Given the description of an element on the screen output the (x, y) to click on. 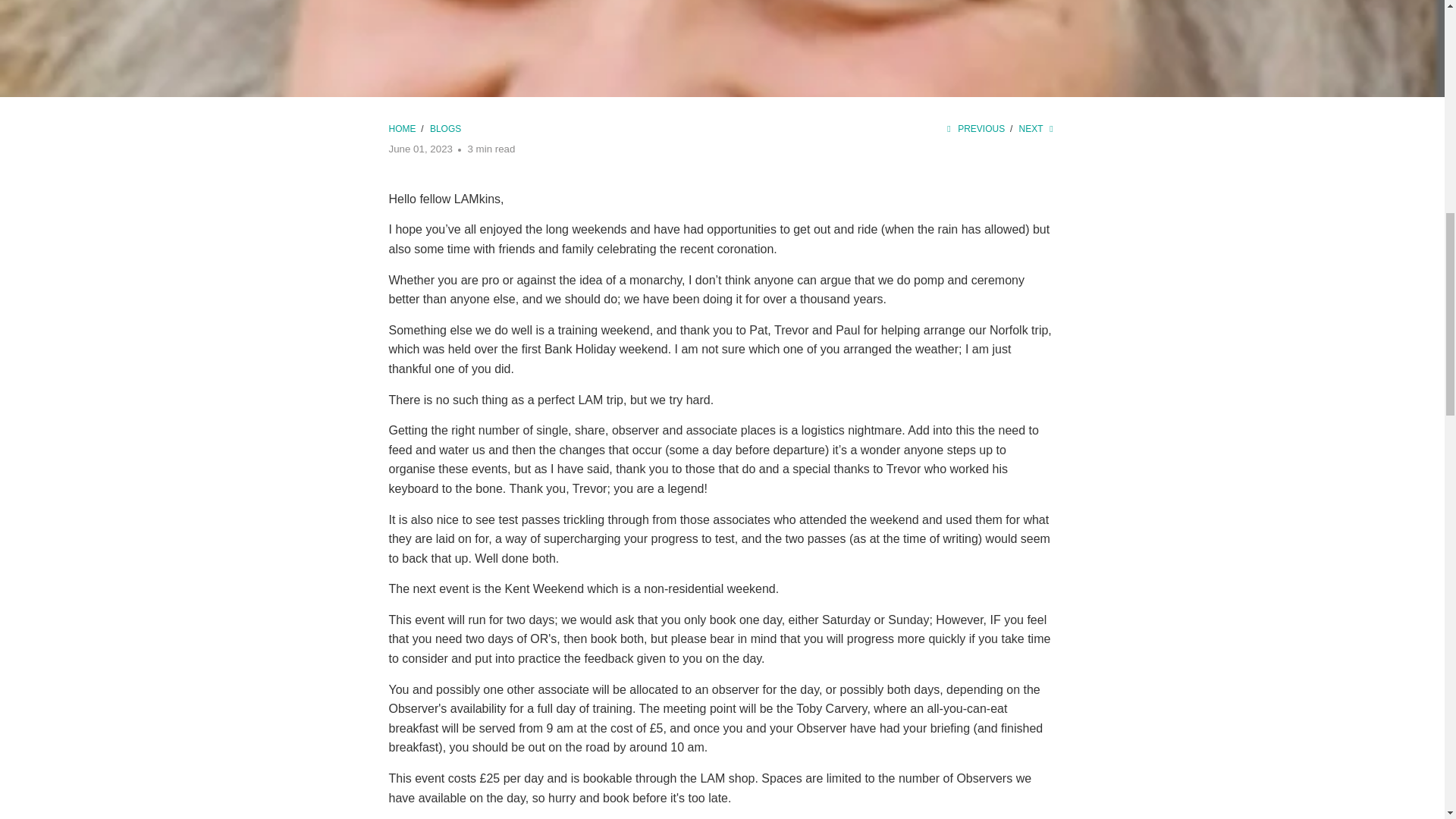
Blogs (445, 128)
London Advanced Motorcyclists (402, 128)
